Given the description of an element on the screen output the (x, y) to click on. 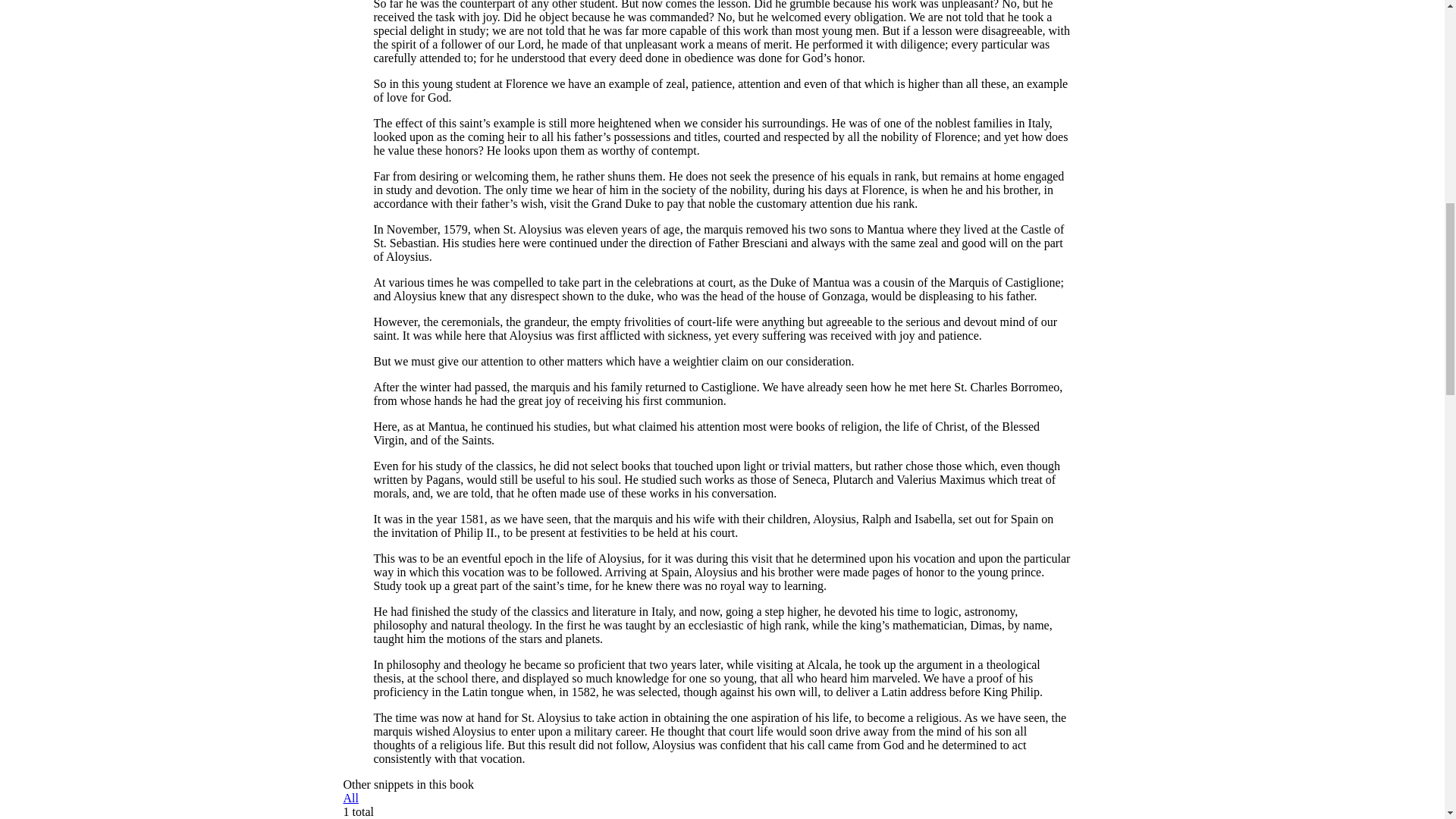
All (350, 797)
